Given the description of an element on the screen output the (x, y) to click on. 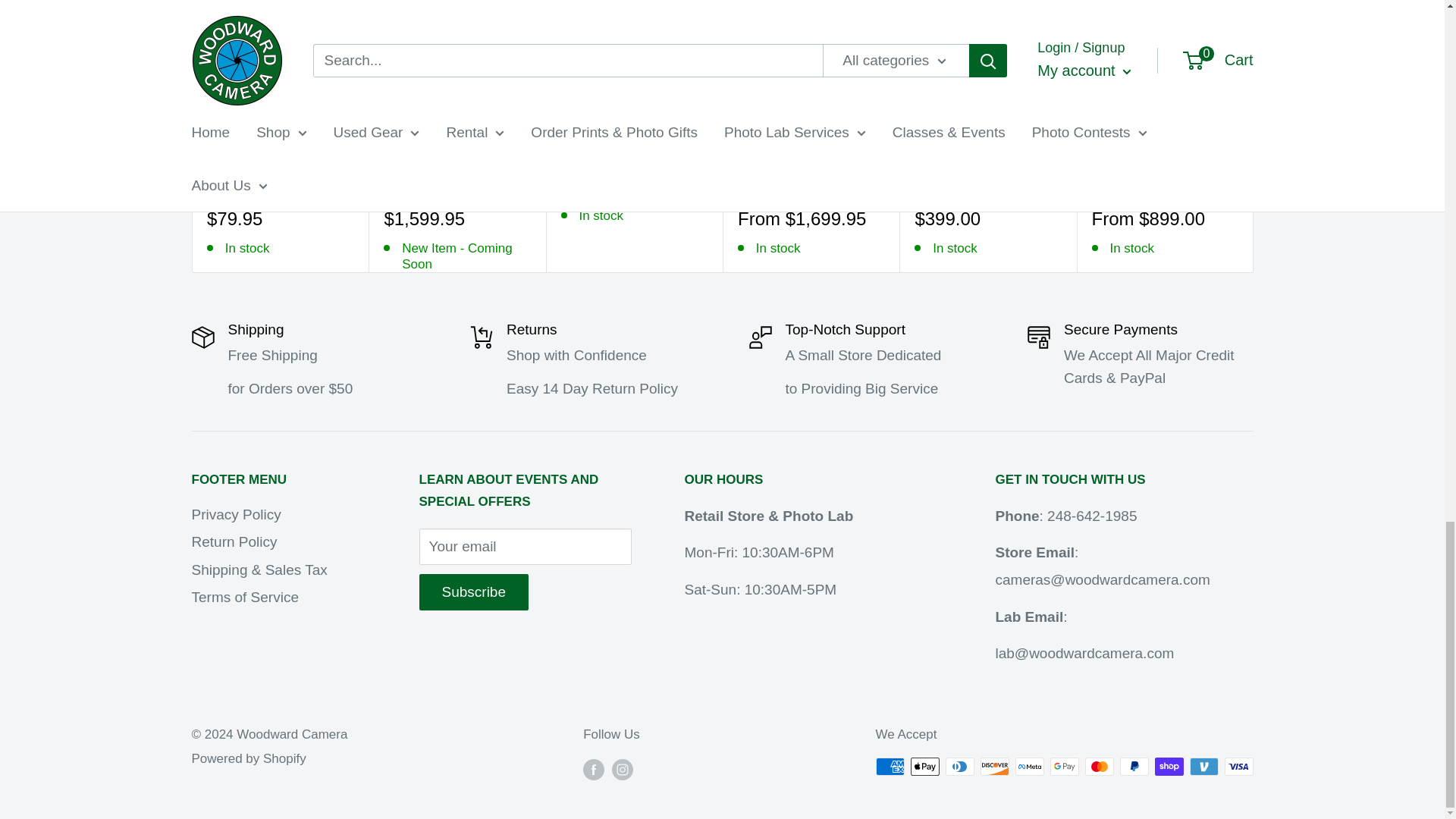
Silver (769, 184)
Black (393, 184)
Mint Green (284, 184)
Blossom Pink (215, 184)
White (969, 184)
Black (746, 184)
Pastel Blue (306, 184)
Black (1101, 184)
Silver (1123, 184)
Silver (416, 184)
Red (946, 184)
Lilac Purple (260, 184)
Clay White (238, 184)
Black (924, 184)
